Given the description of an element on the screen output the (x, y) to click on. 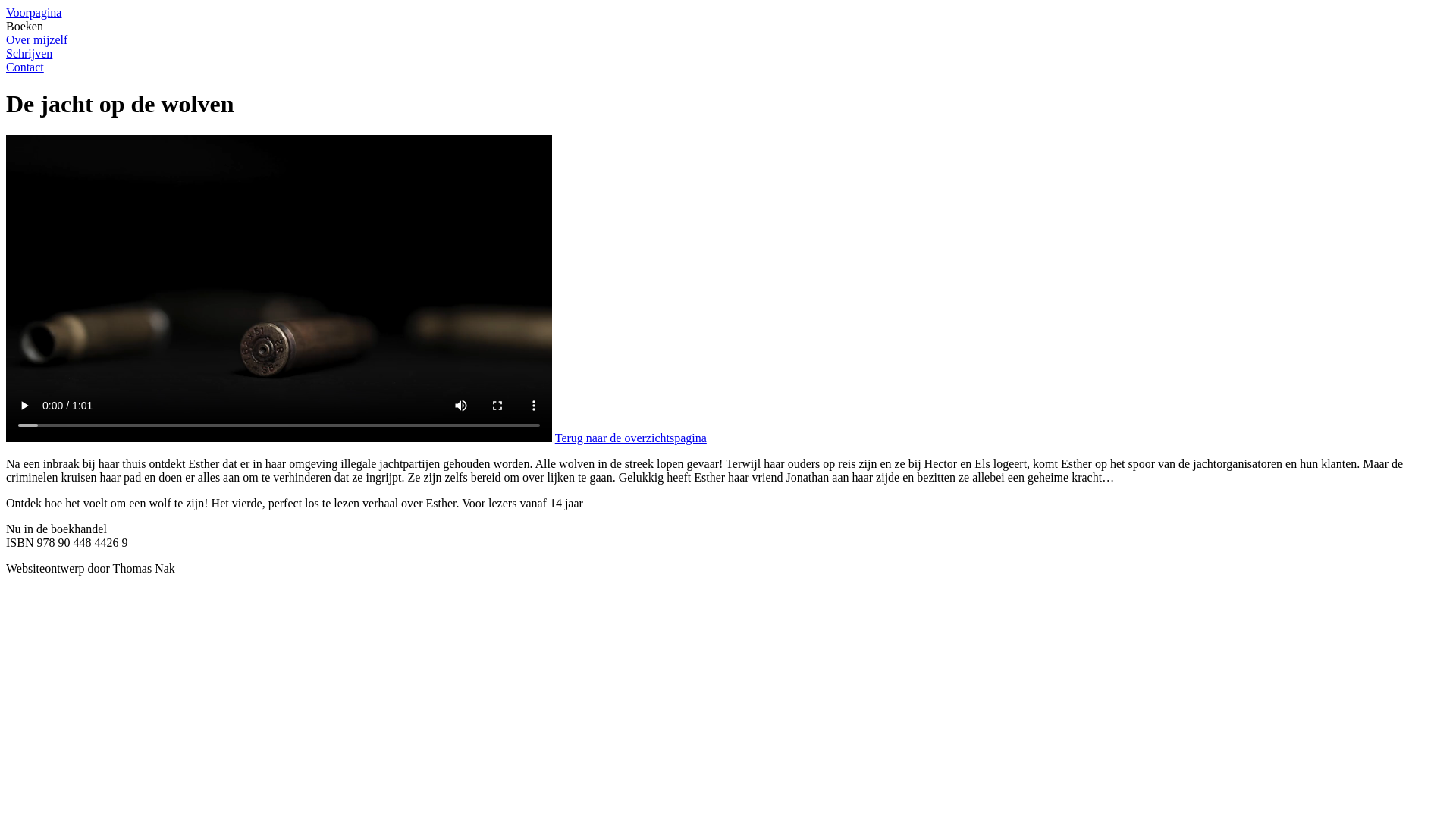
Voorpagina Element type: text (727, 12)
Terug naar de overzichtspagina Element type: text (630, 437)
Schrijven Element type: text (727, 53)
Contact Element type: text (727, 67)
Over mijzelf Element type: text (727, 40)
